Given the description of an element on the screen output the (x, y) to click on. 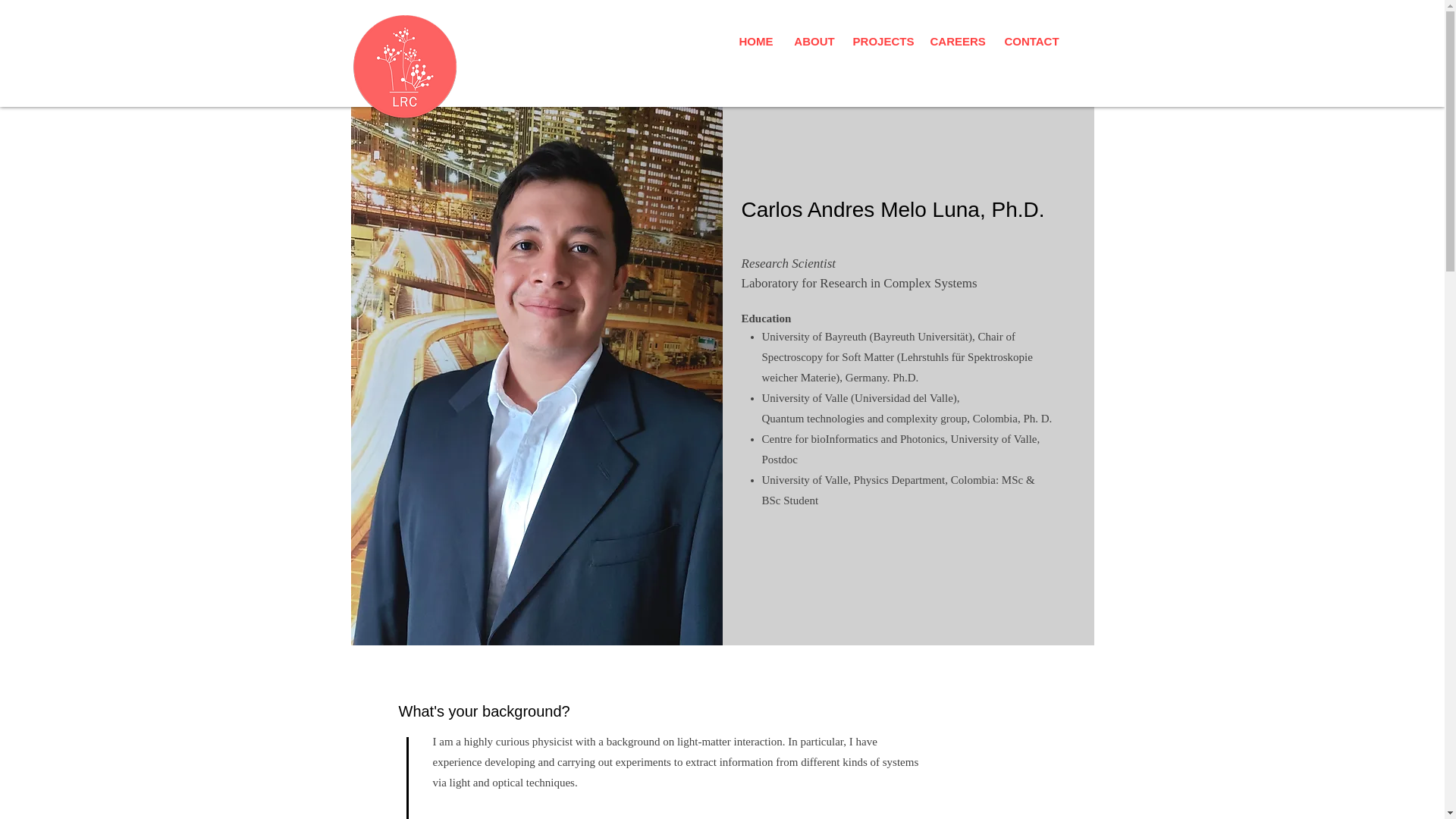
ABOUT (814, 41)
PROJECTS (883, 41)
CAREERS (956, 41)
CONTACT (1031, 41)
HOME (756, 41)
